Given the description of an element on the screen output the (x, y) to click on. 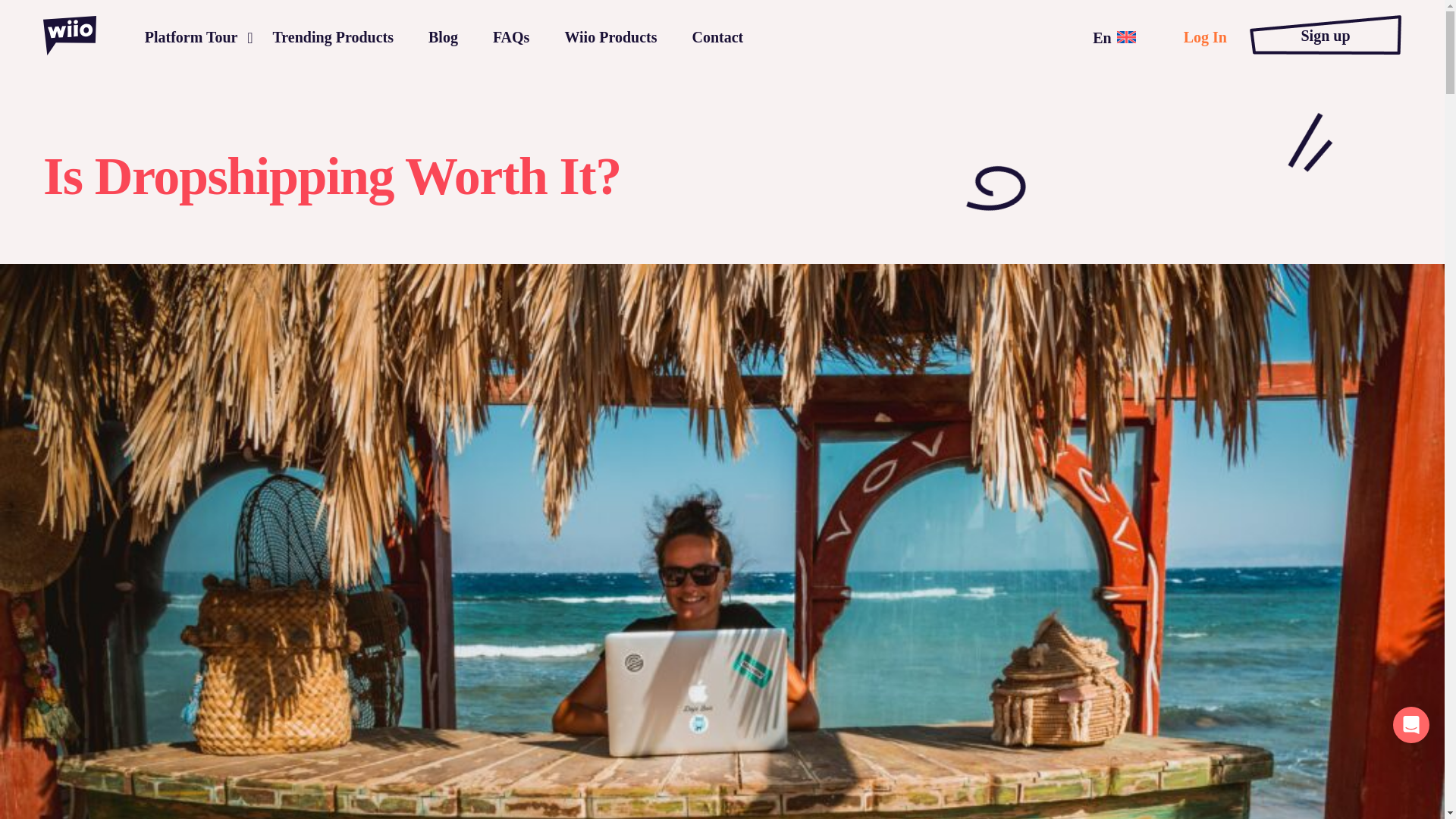
Trending Products (332, 36)
Blog (443, 36)
Wiio Products (610, 36)
En (1114, 36)
FAQs (511, 36)
Sign up (1324, 34)
Contact (717, 36)
Platform Tour (192, 36)
Log In (1205, 36)
